Given the description of an element on the screen output the (x, y) to click on. 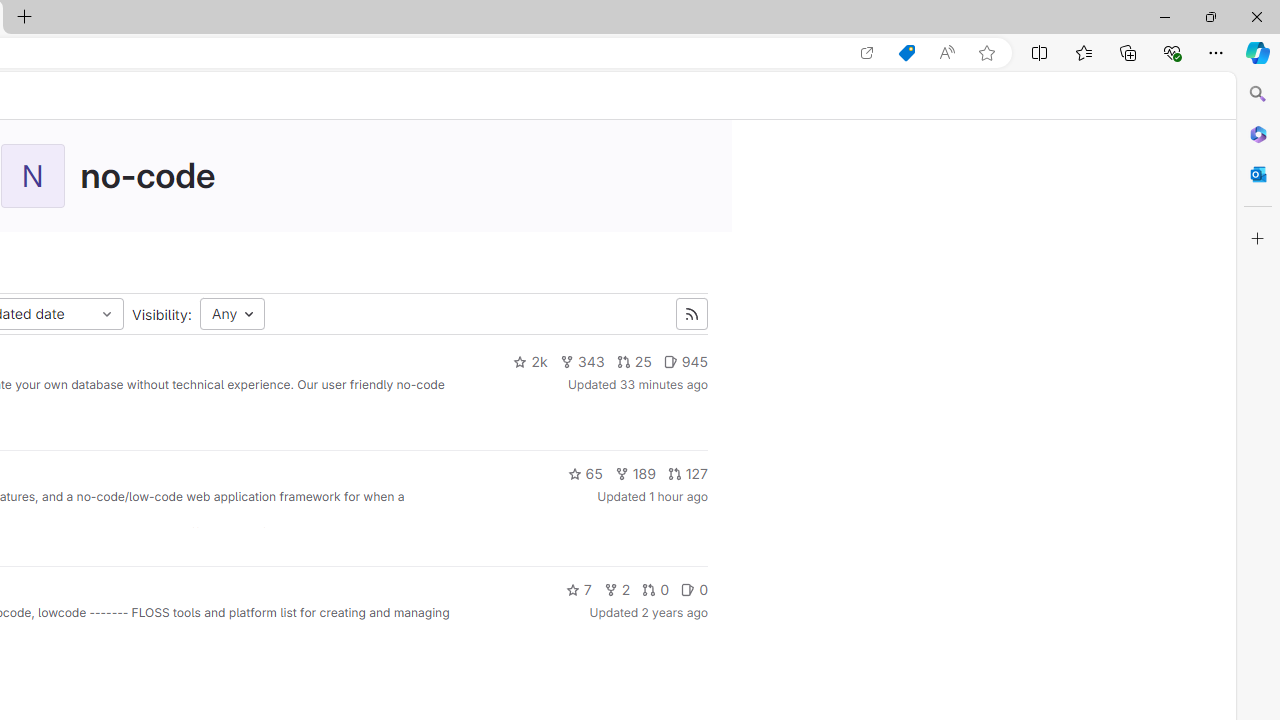
127 (686, 473)
189 (634, 473)
